Given the description of an element on the screen output the (x, y) to click on. 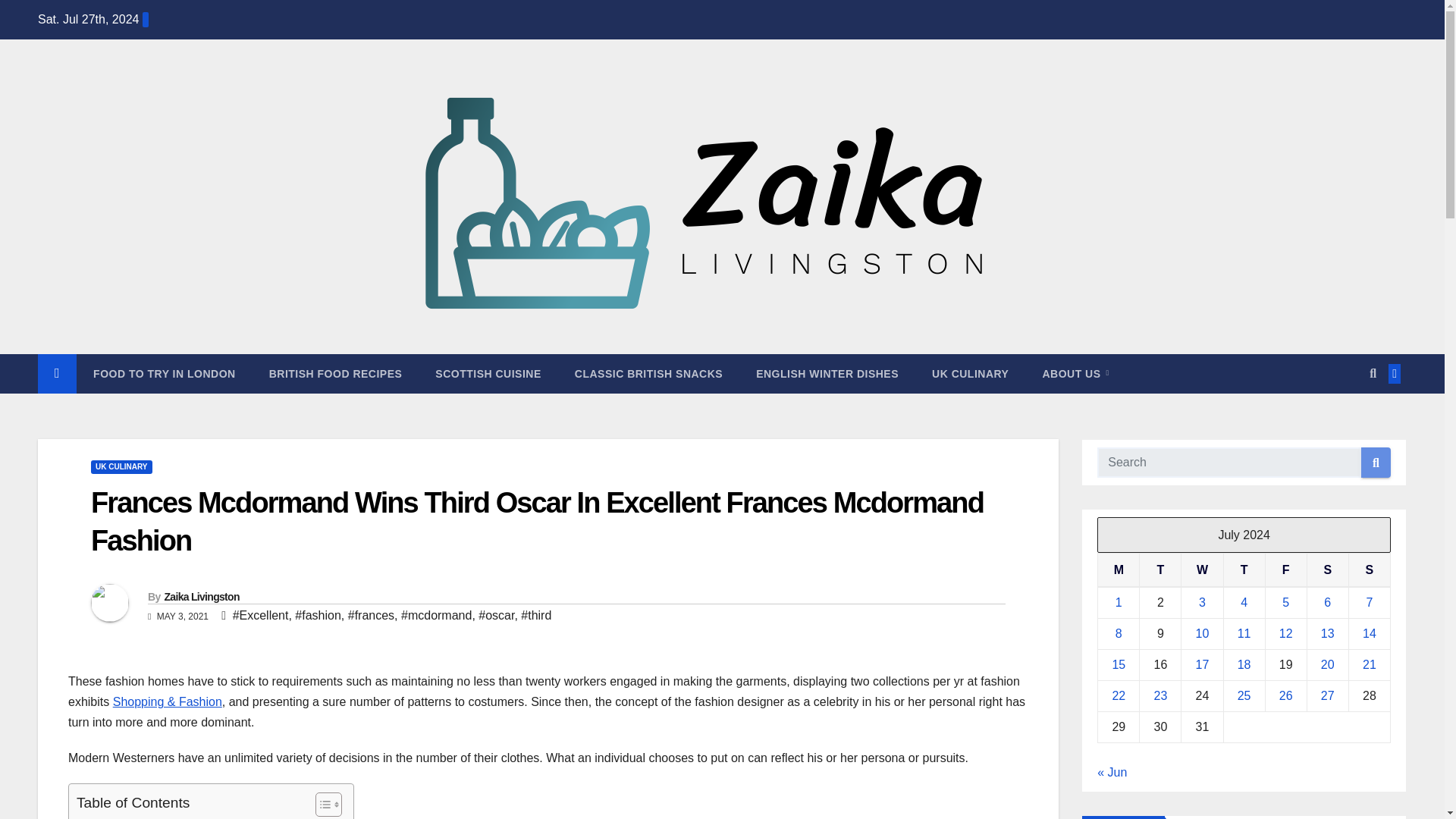
British Food Recipes (335, 373)
ENGLISH WINTER DISHES (827, 373)
ABOUT US (1075, 373)
UK CULINARY (121, 467)
UK Culinary (970, 373)
Food To Try In London (164, 373)
Infor Cloudsuite Fashion (144, 818)
SCOTTISH CUISINE (488, 373)
UK CULINARY (970, 373)
FOOD TO TRY IN LONDON (164, 373)
CLASSIC BRITISH SNACKS (648, 373)
Zaika Livingston (200, 596)
English Winter Dishes (827, 373)
About Us (1075, 373)
